Given the description of an element on the screen output the (x, y) to click on. 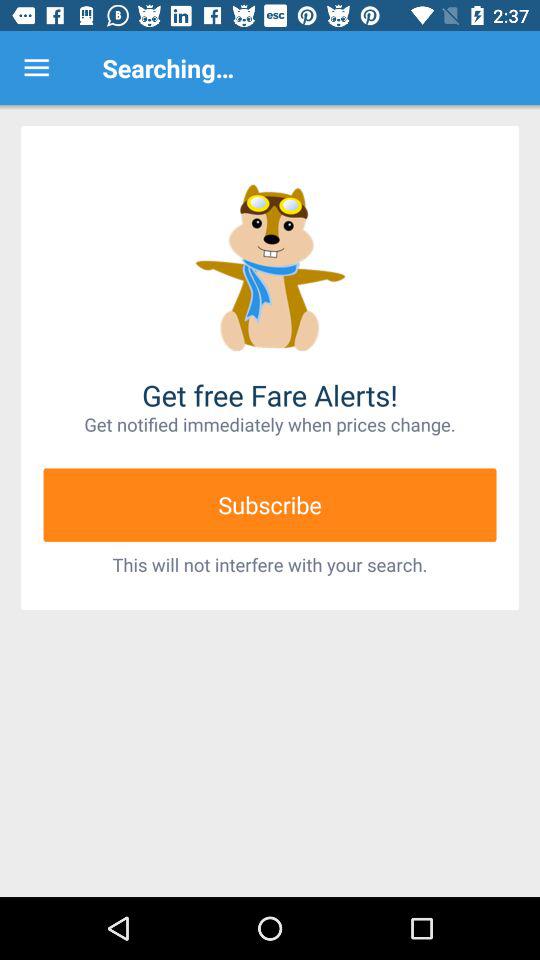
launch icon above this will not icon (269, 504)
